Given the description of an element on the screen output the (x, y) to click on. 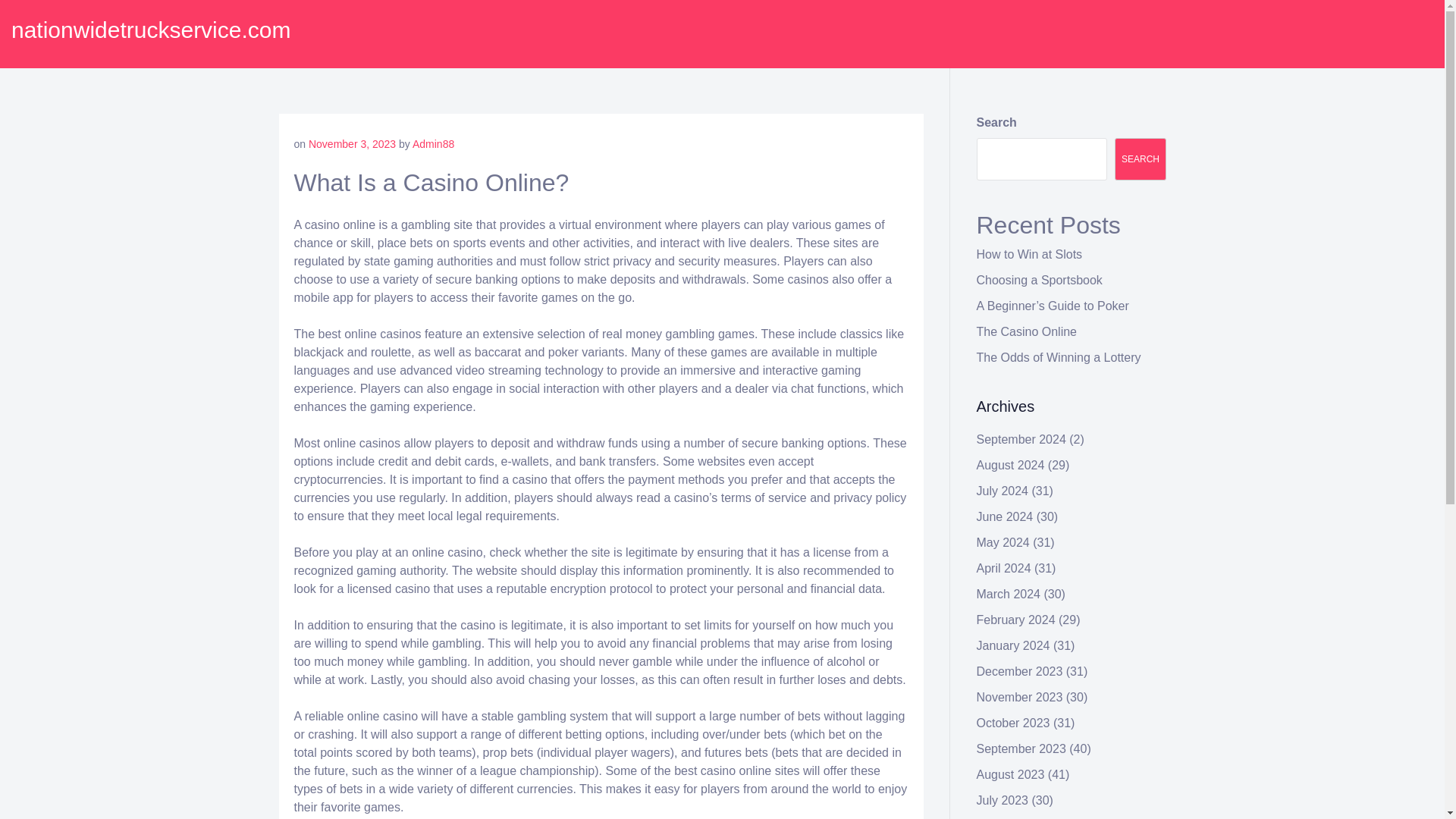
Choosing a Sportsbook (1039, 279)
August 2024 (1010, 464)
Admin88 (433, 143)
February 2024 (1015, 619)
September 2023 (1020, 748)
The Odds of Winning a Lottery (1058, 357)
How to Win at Slots (1029, 254)
January 2024 (1012, 645)
March 2024 (1008, 594)
SEARCH (1140, 159)
